Given the description of an element on the screen output the (x, y) to click on. 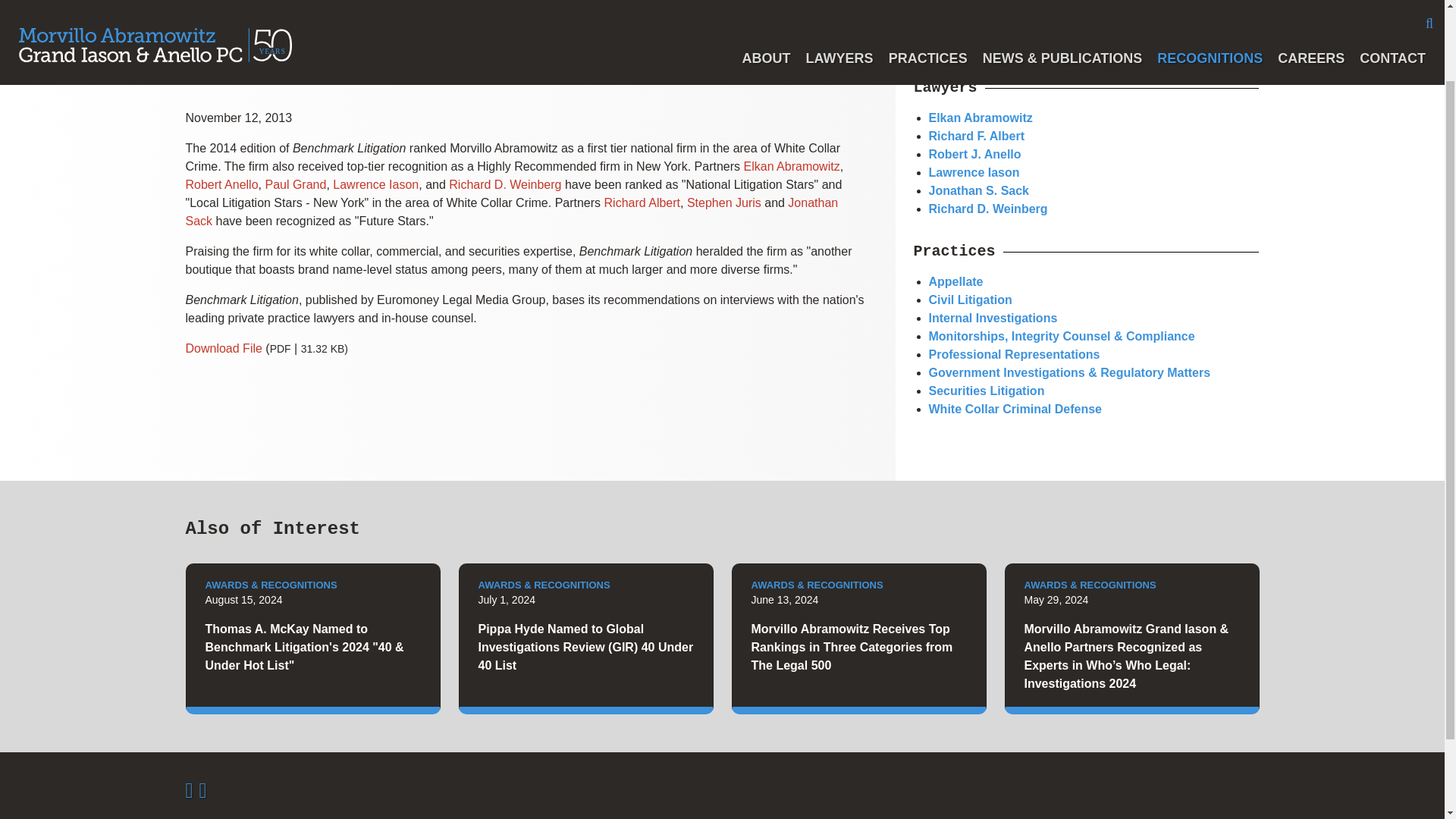
Elkan Abramowitz (980, 117)
Richard F. Albert (976, 135)
Paul Grand (295, 184)
Jonathan S. Sack (978, 190)
Robert J. Anello (974, 154)
Richard D. Weinberg (504, 184)
Civil Litigation (969, 299)
Jonathan Sack (511, 211)
White Collar Criminal Defense (1015, 408)
Richard Albert (642, 202)
